Given the description of an element on the screen output the (x, y) to click on. 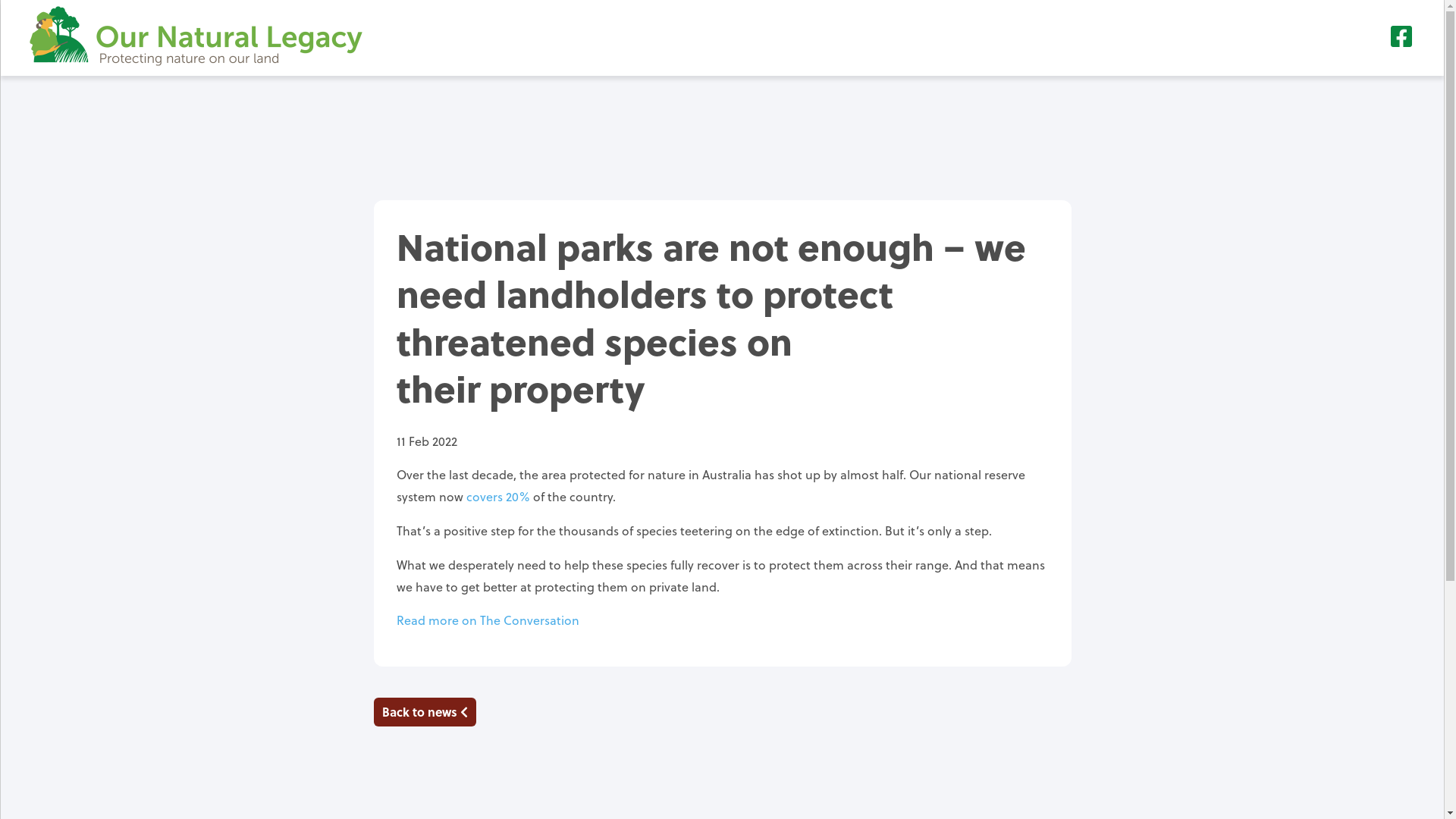
covers 20% Element type: text (497, 496)
Find us on facebook Element type: text (1401, 40)
Back to news Element type: text (424, 711)
Find us on Facebook Element type: hover (1401, 36)
Read more on The Conversation Element type: text (486, 619)
